Given the description of an element on the screen output the (x, y) to click on. 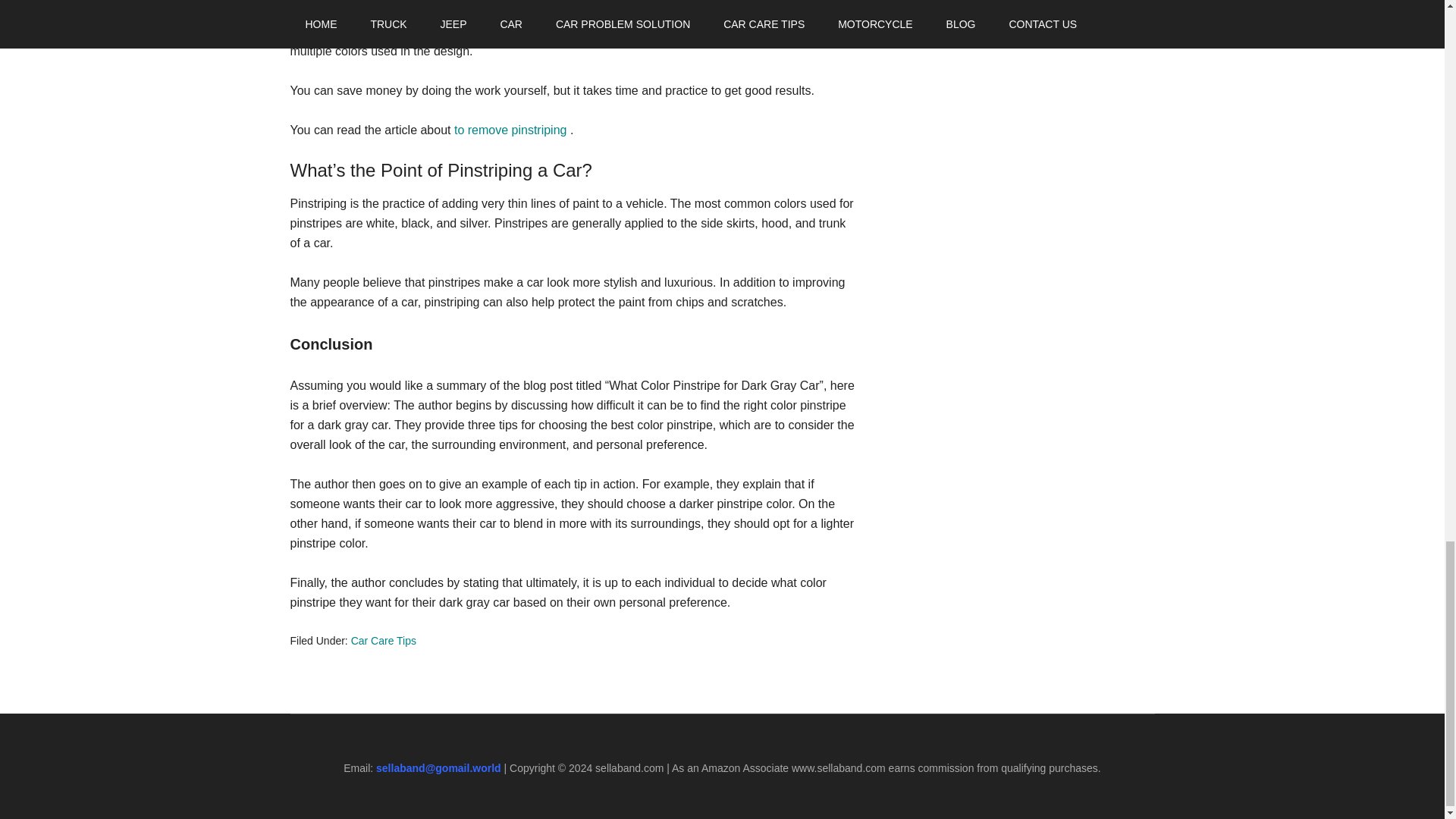
Car Care Tips (383, 640)
to remove pinstriping (512, 129)
sellaband.com (629, 767)
